Given the description of an element on the screen output the (x, y) to click on. 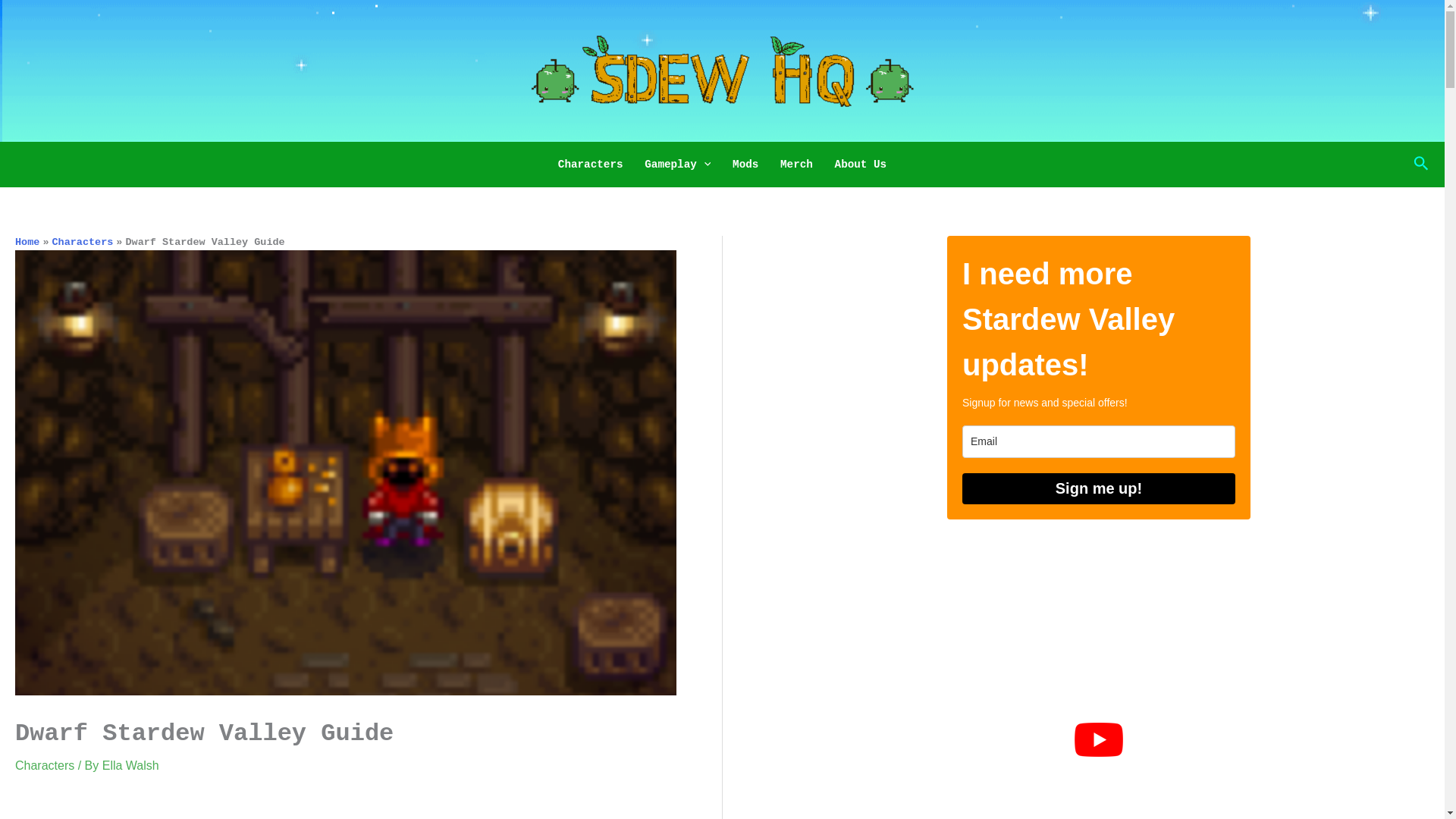
View all posts by Ella Walsh (129, 765)
Gameplay (677, 164)
Merch (797, 164)
Mods (746, 164)
Characters (590, 164)
About Us (860, 164)
